Given the description of an element on the screen output the (x, y) to click on. 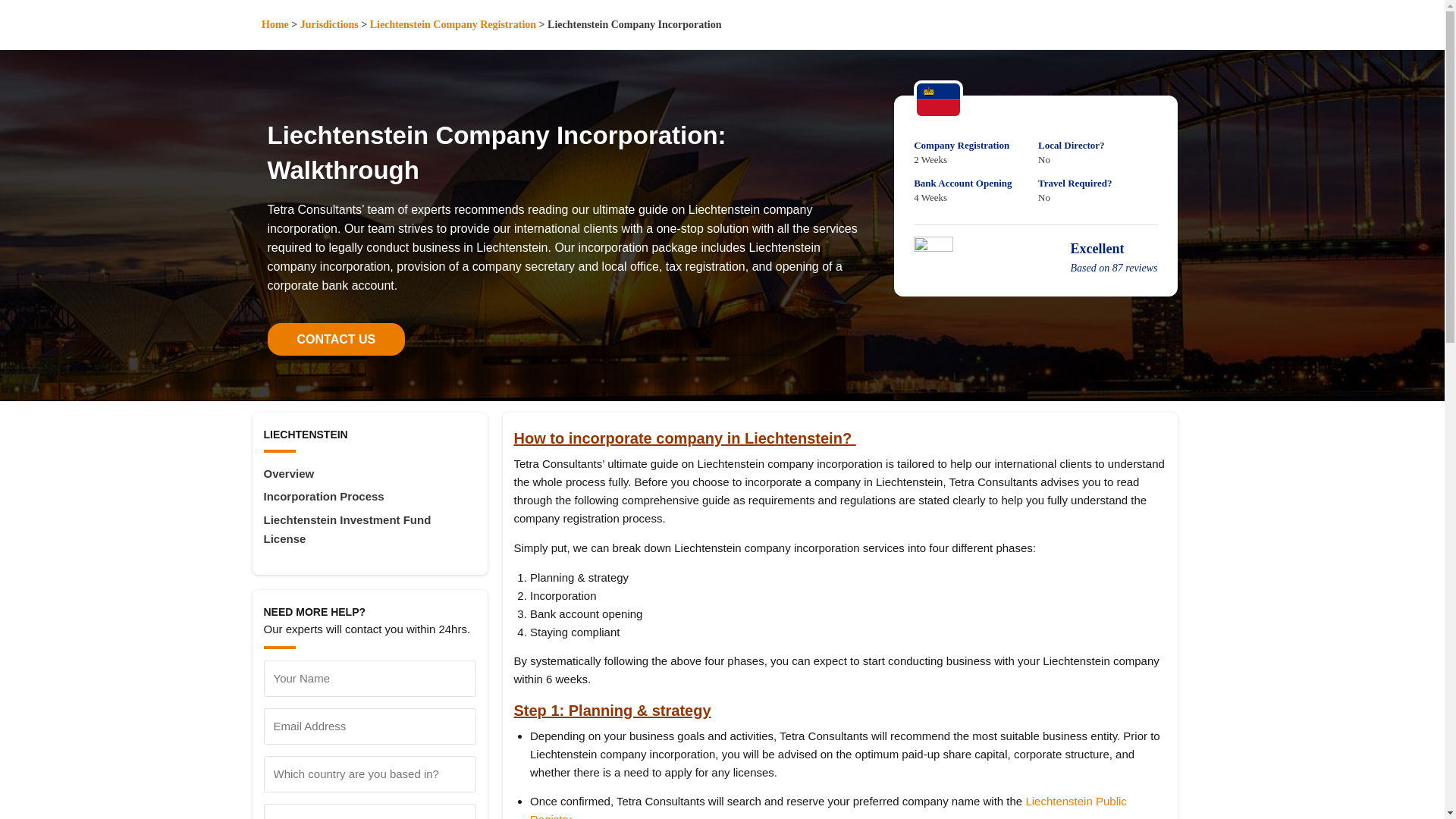
Overview (369, 473)
Incorporation Process (369, 496)
Liechtenstein Company Registration (452, 24)
Search (721, 71)
Liechtenstein Public Registry. (827, 806)
Home (275, 24)
Jurisdictions (328, 24)
CONTACT US (335, 338)
Liechtenstein Investment Fund License (369, 528)
CONTACT US (335, 338)
